Given the description of an element on the screen output the (x, y) to click on. 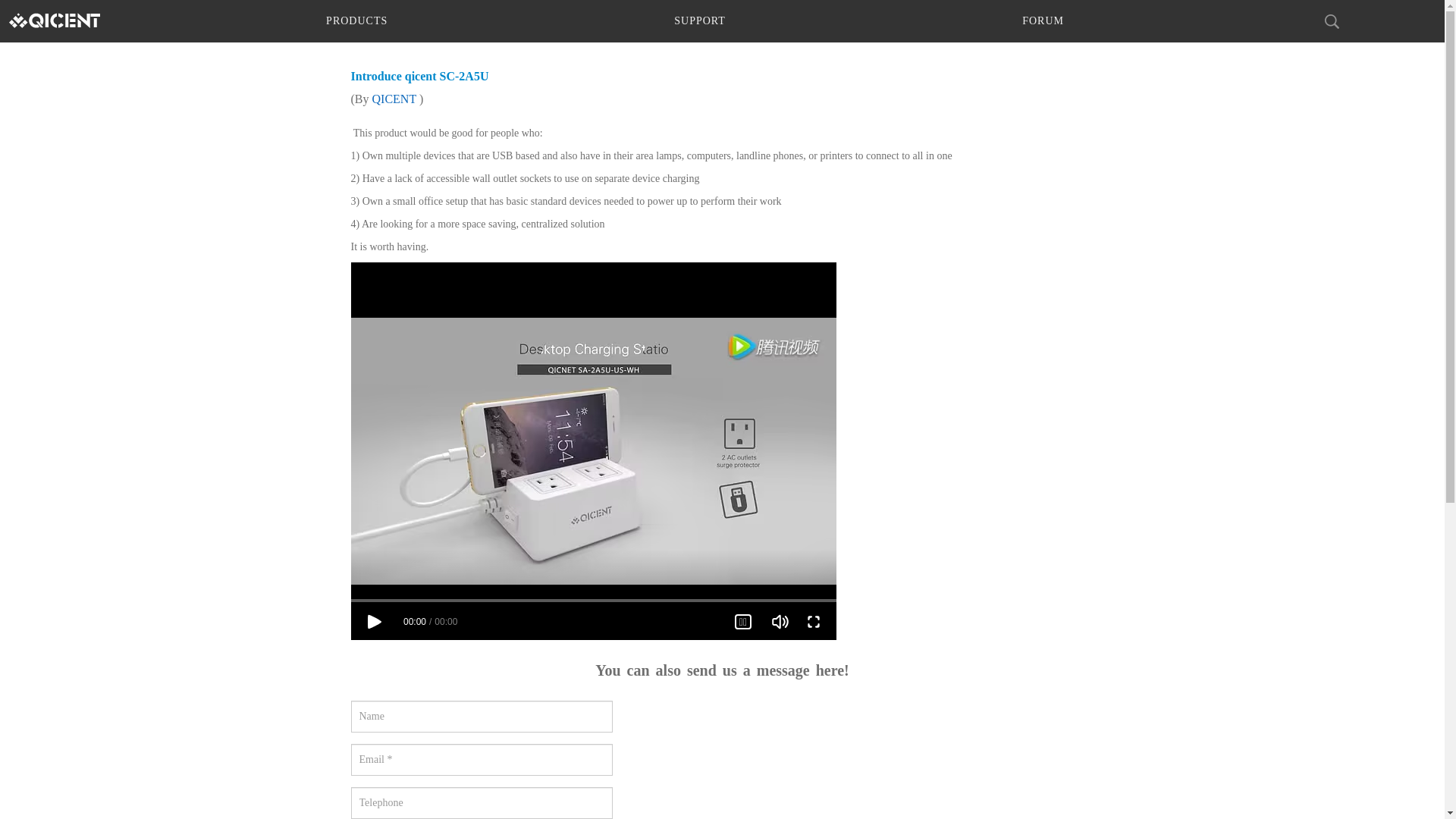
PRODUCTS Element type: text (356, 21)
SUPPORT Element type: text (699, 21)
FORUM Element type: text (1043, 21)
Introduce qicent SC-2A5U Element type: text (419, 75)
